Given the description of an element on the screen output the (x, y) to click on. 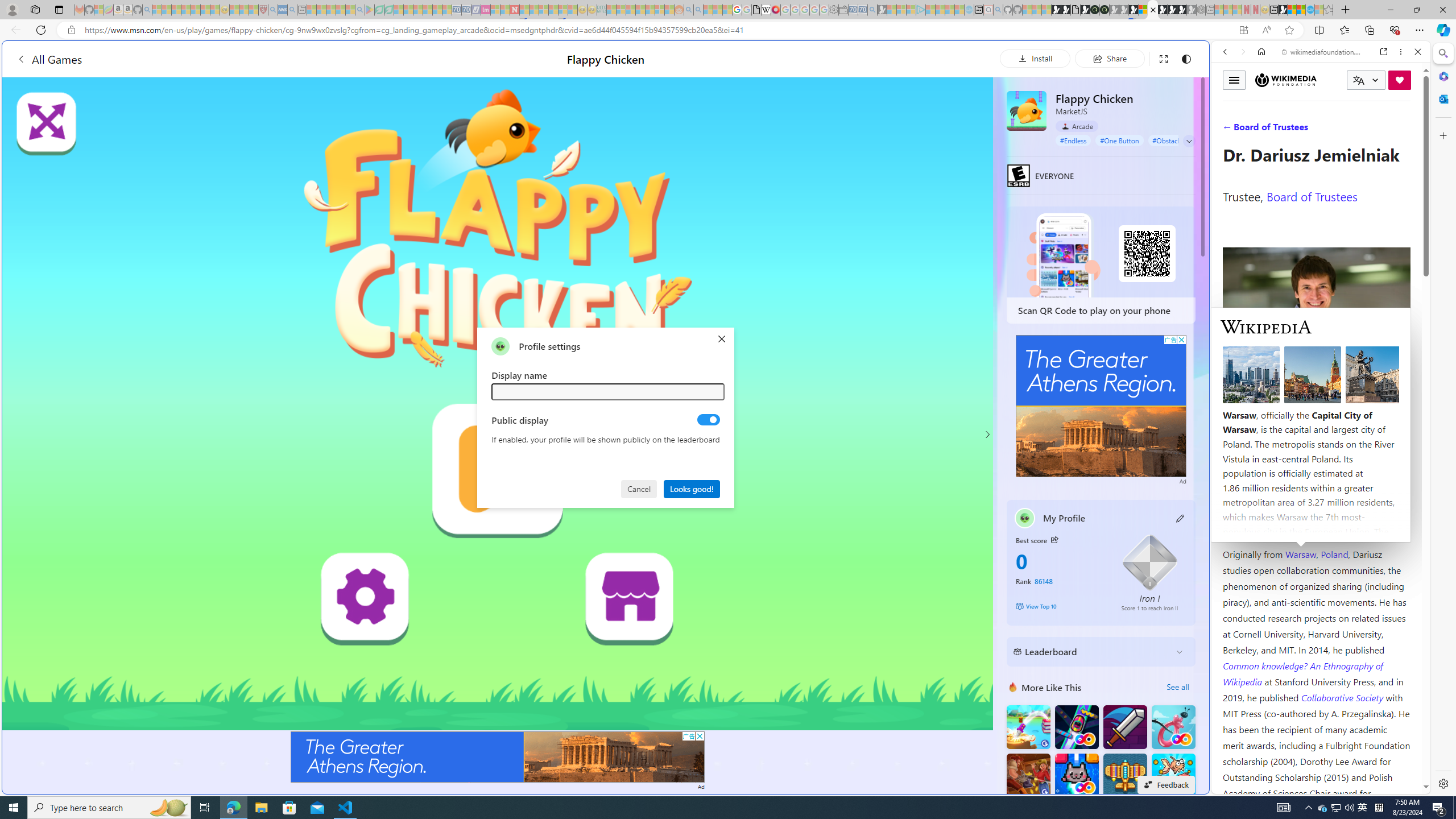
MediaWiki (774, 9)
EVERYONE (1018, 175)
Wallet - Sleeping (843, 9)
github - Search - Sleeping (997, 9)
Poland (1334, 554)
